Given the description of an element on the screen output the (x, y) to click on. 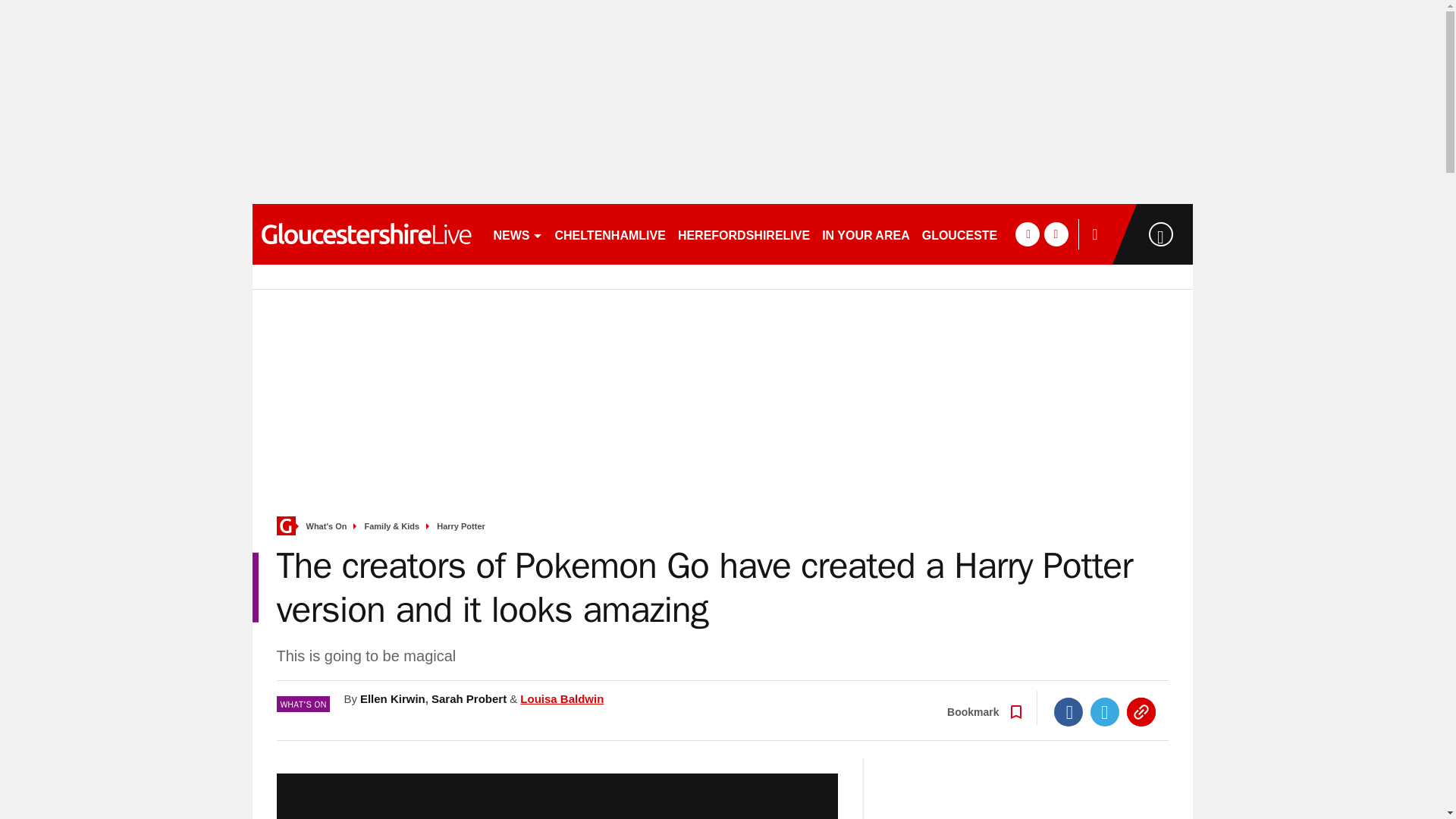
gloucestershirelive (365, 233)
GLOUCESTER NEWS (983, 233)
Twitter (1104, 711)
Facebook (1068, 711)
IN YOUR AREA (865, 233)
CHELTENHAMLIVE (609, 233)
NEWS (517, 233)
facebook (1026, 233)
HEREFORDSHIRELIVE (743, 233)
twitter (1055, 233)
